Given the description of an element on the screen output the (x, y) to click on. 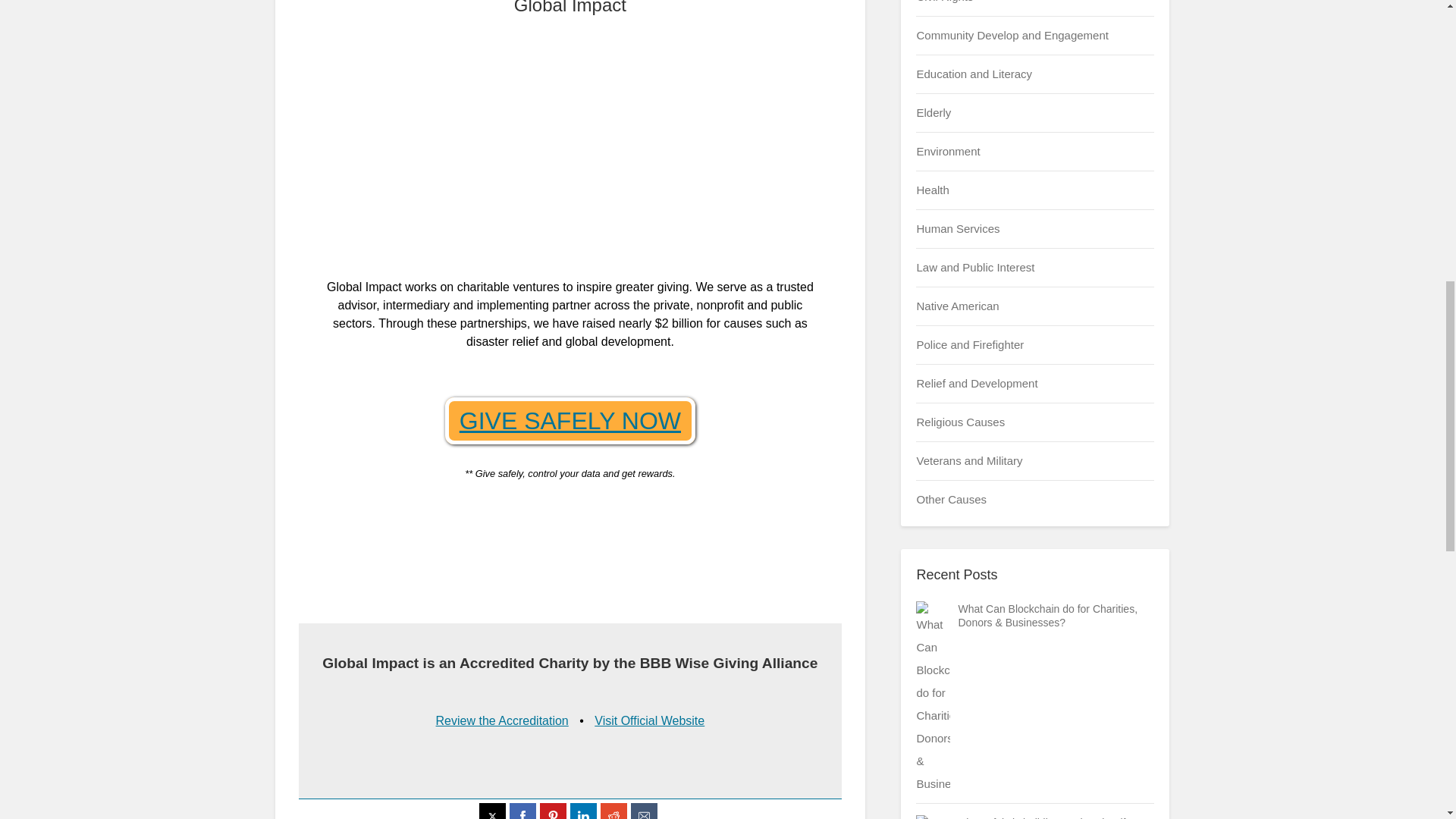
GIVE SAFELY NOW (570, 420)
Donate to global-impact (570, 420)
Visit Official Website (648, 720)
Community Develop and Civic Engagement (1011, 34)
Civil Rights (943, 1)
Review the Accreditation (502, 720)
